Given the description of an element on the screen output the (x, y) to click on. 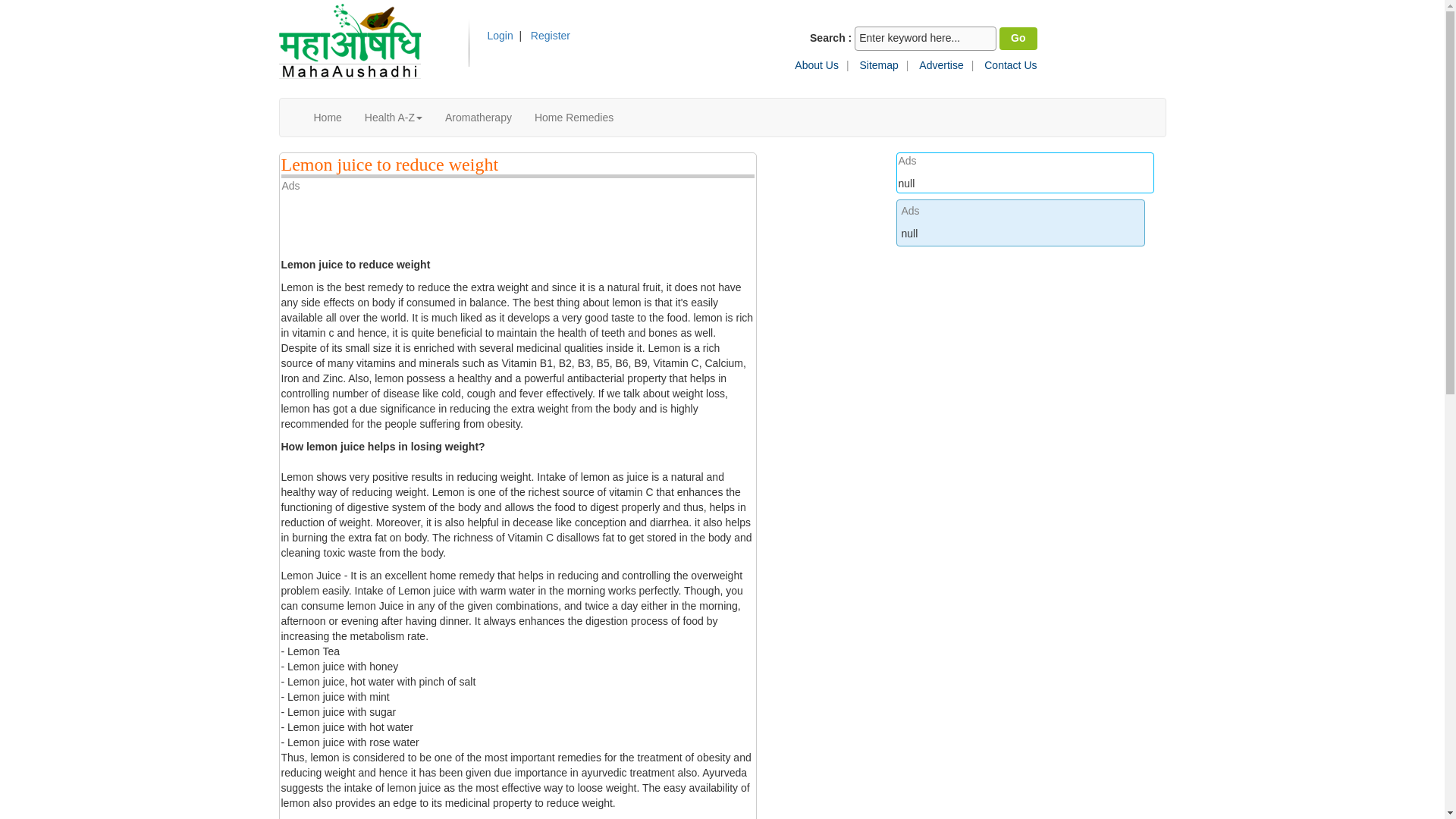
About Us (816, 64)
Go (1017, 38)
Health A-Z (393, 117)
Go (1017, 38)
Sitemap (878, 64)
Advertise (940, 64)
Aromatherapy (477, 117)
Contact Us (1010, 64)
Register (550, 35)
Login (491, 35)
